Given the description of an element on the screen output the (x, y) to click on. 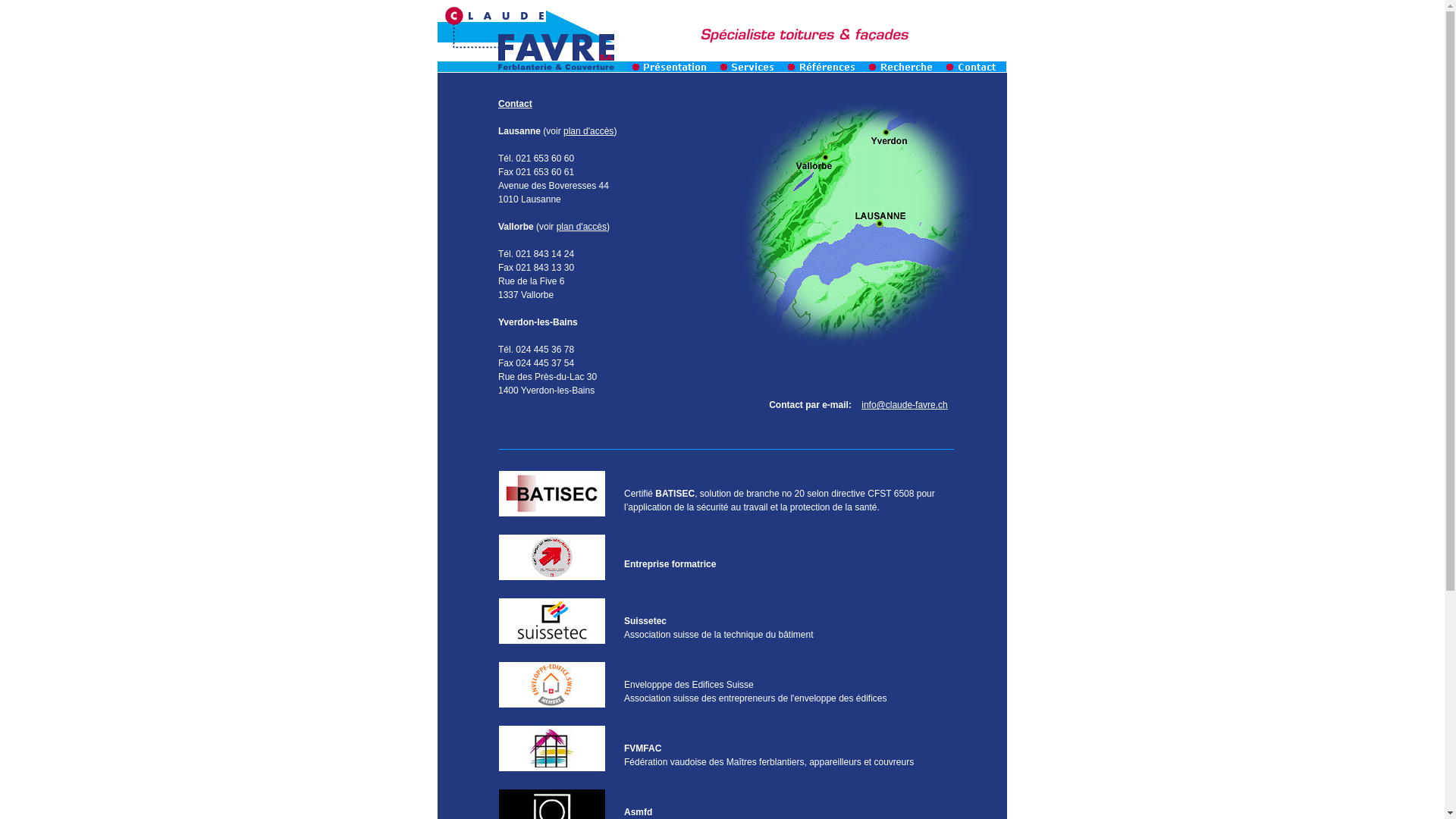
info@claude-favre.ch Element type: text (904, 404)
